Given the description of an element on the screen output the (x, y) to click on. 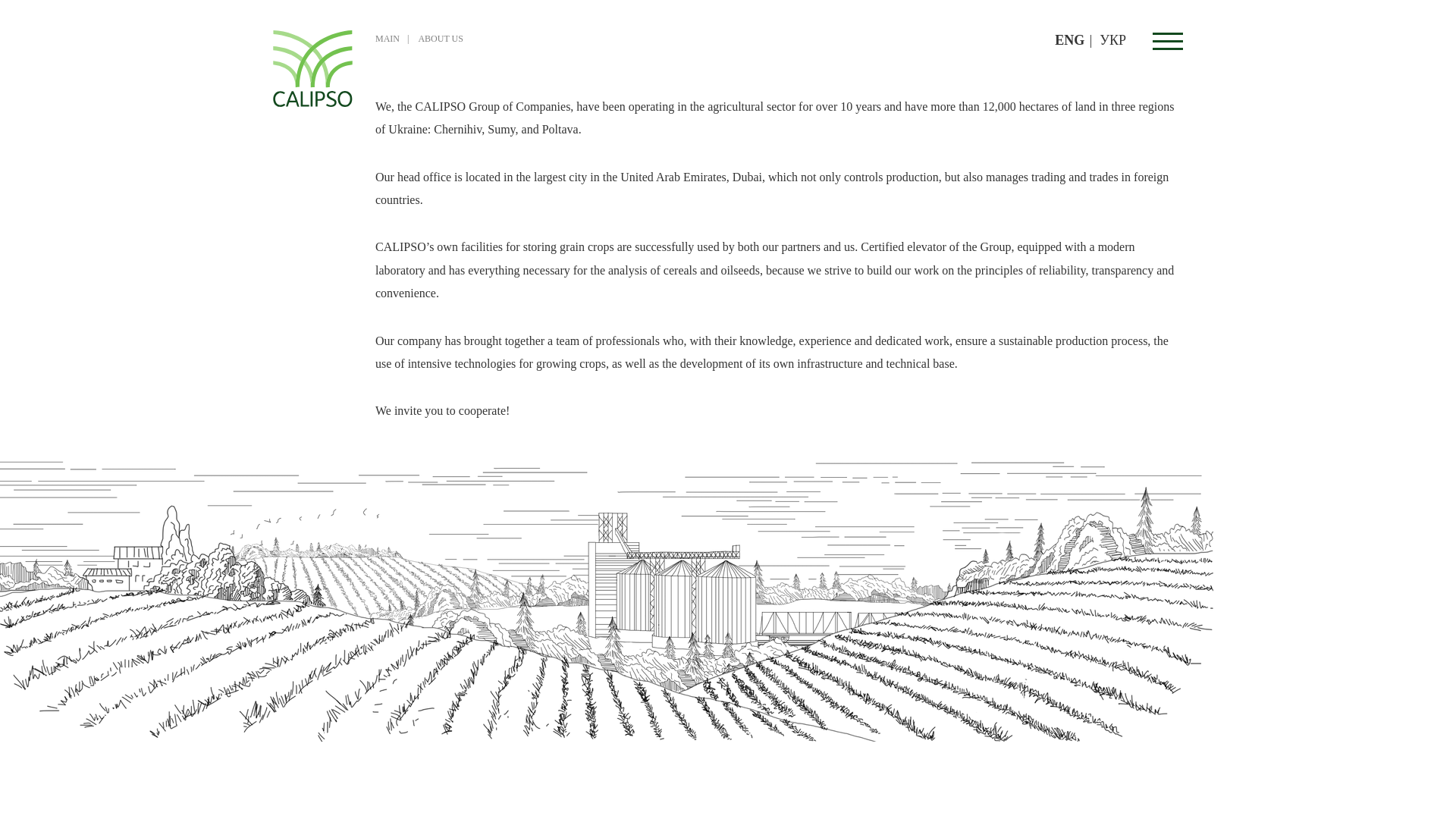
ENG (1069, 39)
MAIN (392, 38)
